Given the description of an element on the screen output the (x, y) to click on. 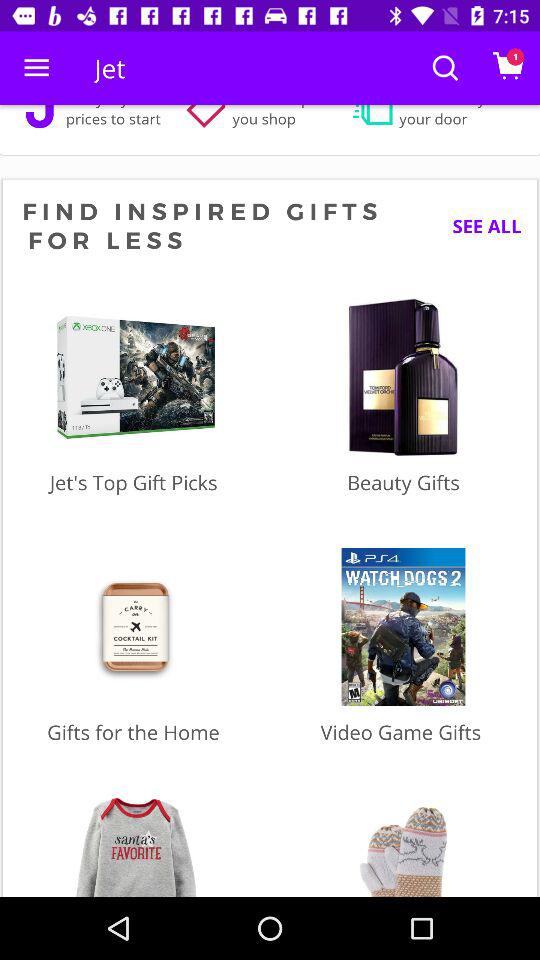
turn on item next to the jet icon (36, 68)
